Given the description of an element on the screen output the (x, y) to click on. 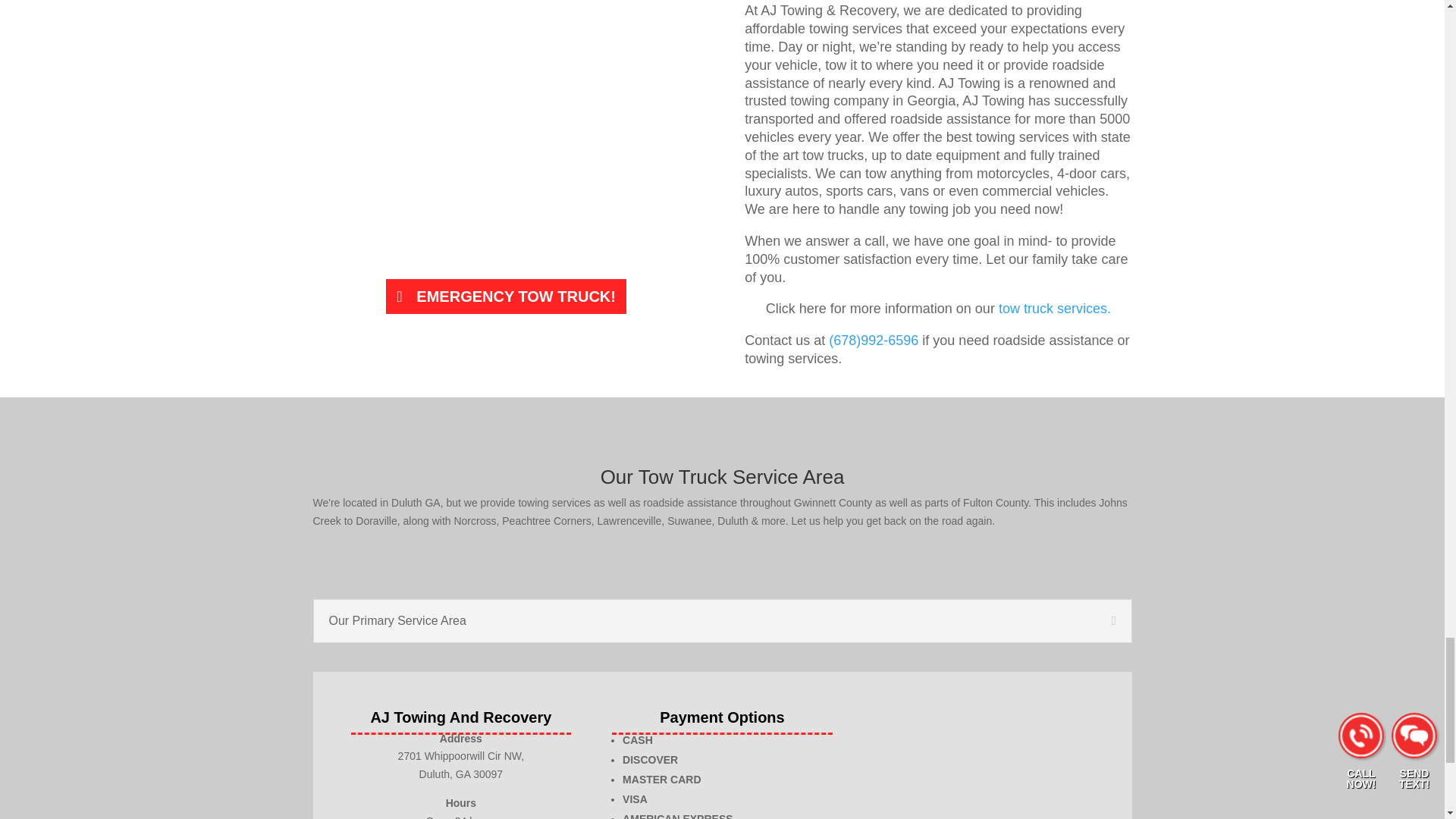
EMERGENCY TOW TRUCK! (505, 296)
tow truck services. (1054, 308)
